Given the description of an element on the screen output the (x, y) to click on. 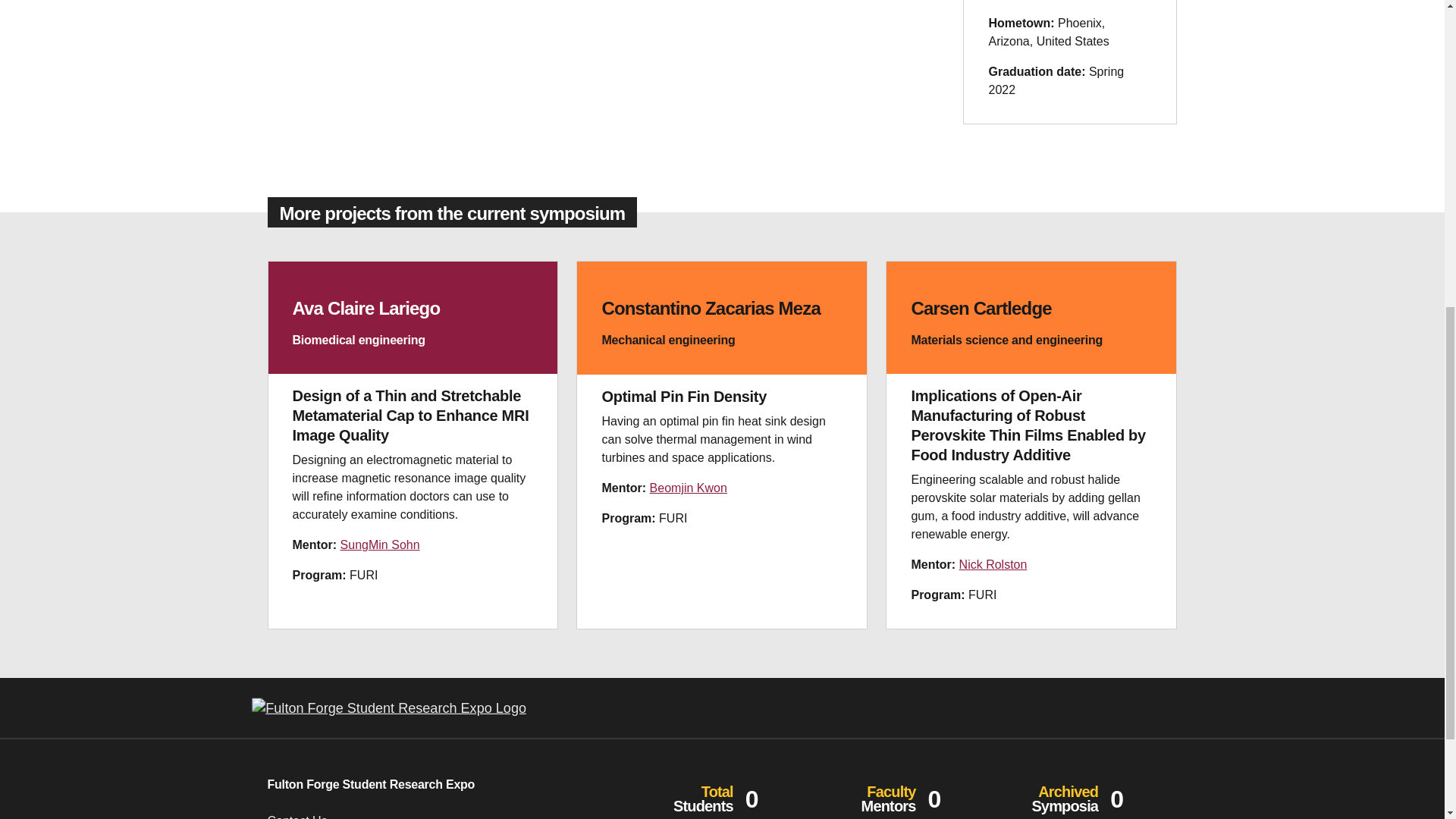
SungMin Sohn (380, 544)
Beomjin Kwon (687, 487)
Nick Rolston (993, 563)
Optimal Pin Fin Density (684, 396)
